Given the description of an element on the screen output the (x, y) to click on. 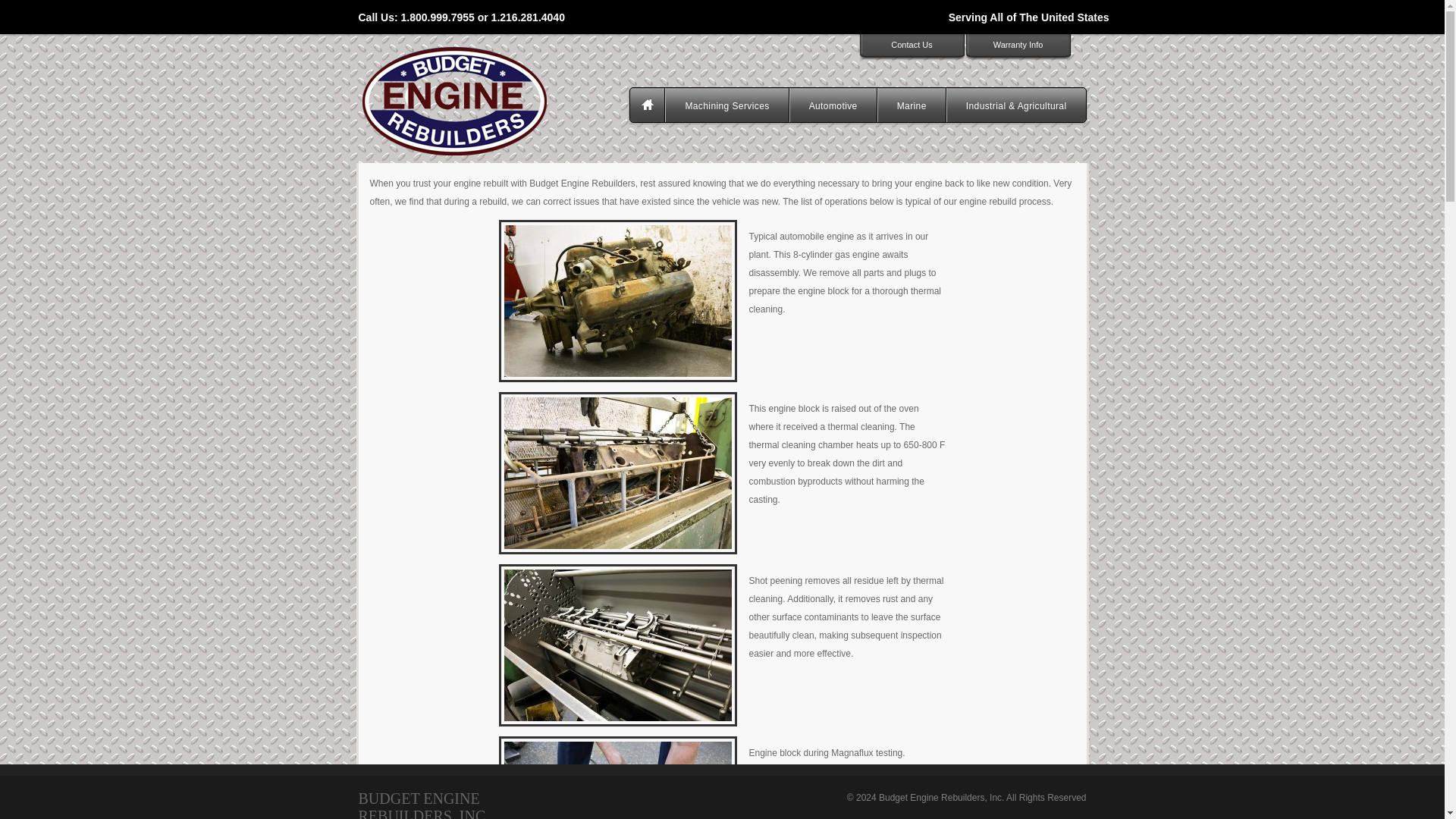
Contact Us (911, 47)
Homepage (649, 105)
Automotive (833, 105)
Machining Services (726, 105)
Warranty Info (1016, 47)
Marine (910, 105)
Typical 8 Cylinder Automotive Engine On Arrival to Our Shop (617, 301)
